Given the description of an element on the screen output the (x, y) to click on. 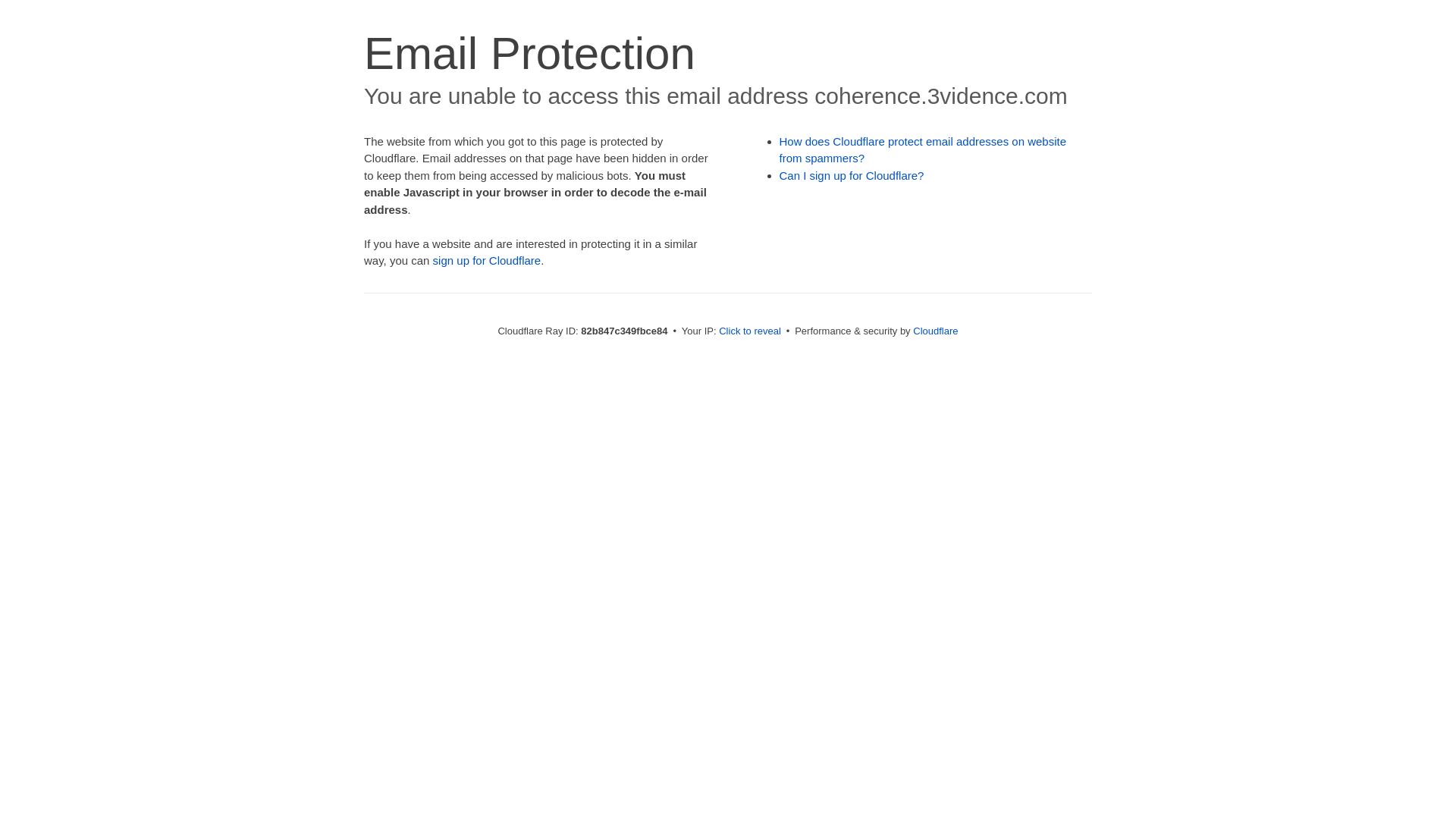
sign up for Cloudflare Element type: text (487, 260)
Click to reveal Element type: text (749, 330)
Cloudflare Element type: text (935, 330)
Can I sign up for Cloudflare? Element type: text (851, 175)
